Given the description of an element on the screen output the (x, y) to click on. 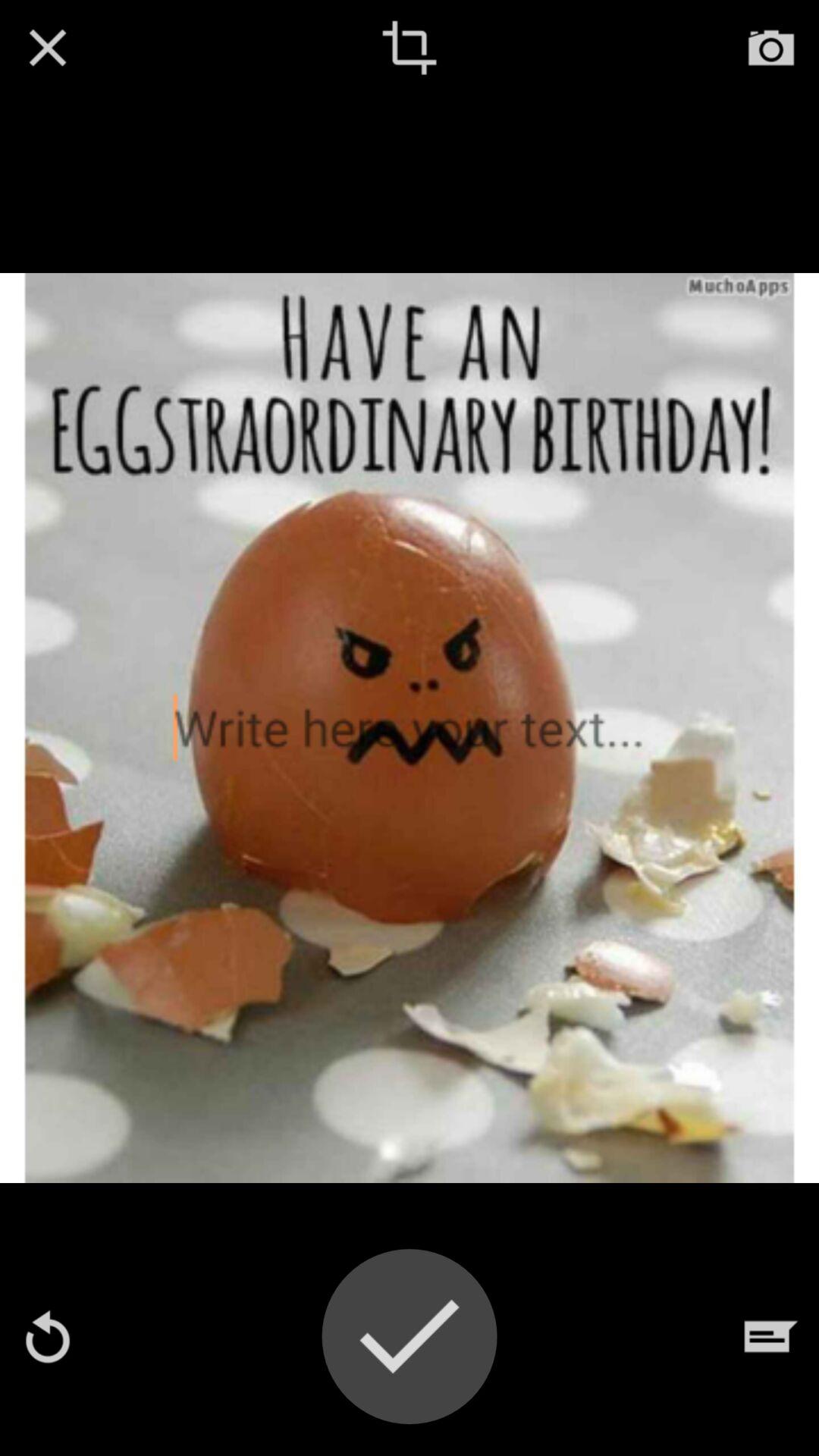
undo option (47, 1336)
